Given the description of an element on the screen output the (x, y) to click on. 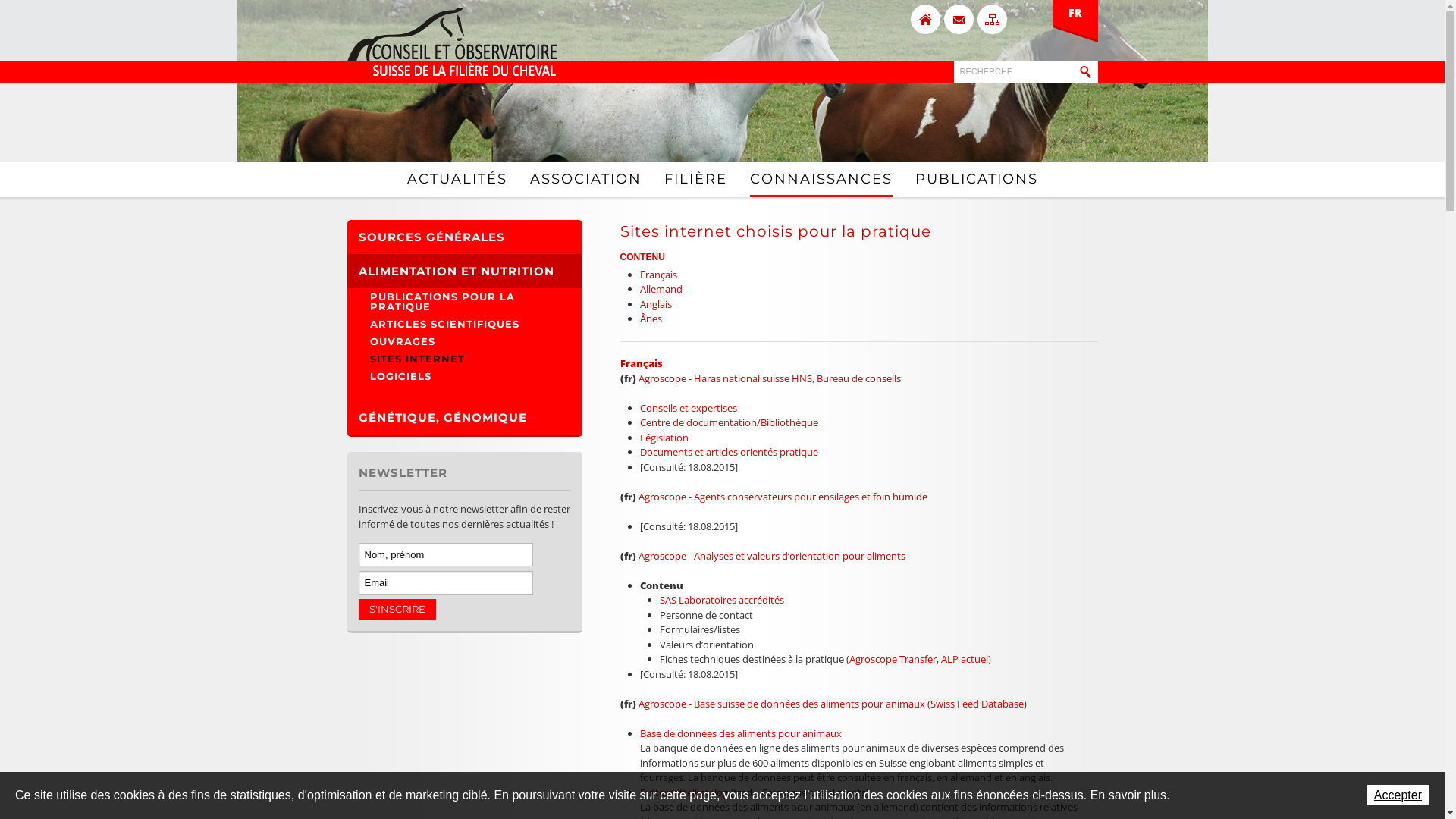
Agroscope Transfer Element type: text (892, 658)
Accepter Element type: text (1397, 794)
ALIMENTATION ET NUTRITION Element type: text (464, 271)
Allemand Element type: text (661, 288)
OUVRAGES Element type: text (464, 341)
LOGICIELS Element type: text (464, 376)
Contact Element type: text (957, 19)
ALP actuel Element type: text (963, 658)
ARTICLES SCIENTIFIQUES Element type: text (464, 323)
PUBLICATIONS POUR LA PRATIQUE Element type: text (464, 301)
Agroscope - Haras national suisse HNS, Bureau de conseils Element type: text (769, 378)
Conseils et expertises Element type: text (688, 407)
SiteMap Element type: text (991, 19)
ASSOCIATION Element type: text (584, 177)
PUBLICATIONS Element type: text (975, 177)
Futtermittelkatalog Element type: text (684, 792)
Home Element type: text (924, 19)
CONNAISSANCES Element type: text (820, 179)
SITES INTERNET Element type: text (464, 358)
Anglais Element type: text (655, 303)
Rechercher Element type: text (1084, 71)
S'INSCRIRE Element type: text (396, 609)
